Given the description of an element on the screen output the (x, y) to click on. 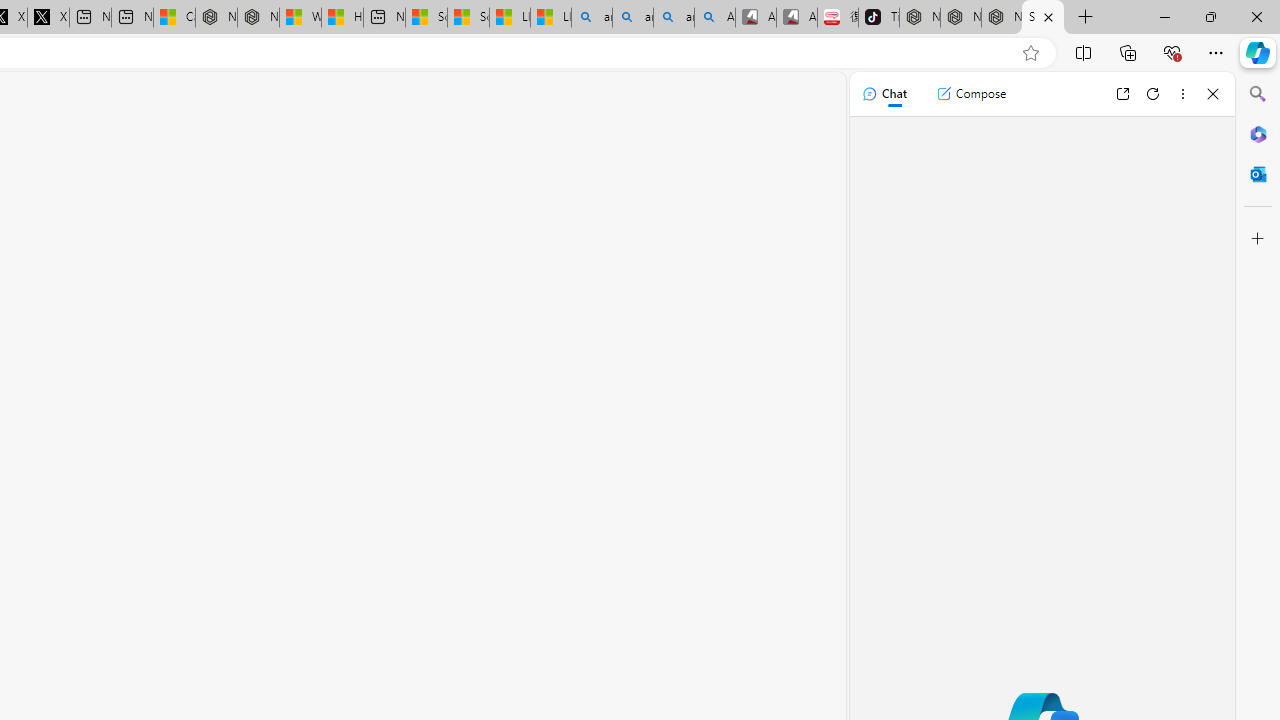
TikTok (878, 17)
Nordace Siena Pro 15 Backpack (960, 17)
amazon - Search Images (673, 17)
Huge shark washes ashore at New York City beach | Watch (342, 17)
